Given the description of an element on the screen output the (x, y) to click on. 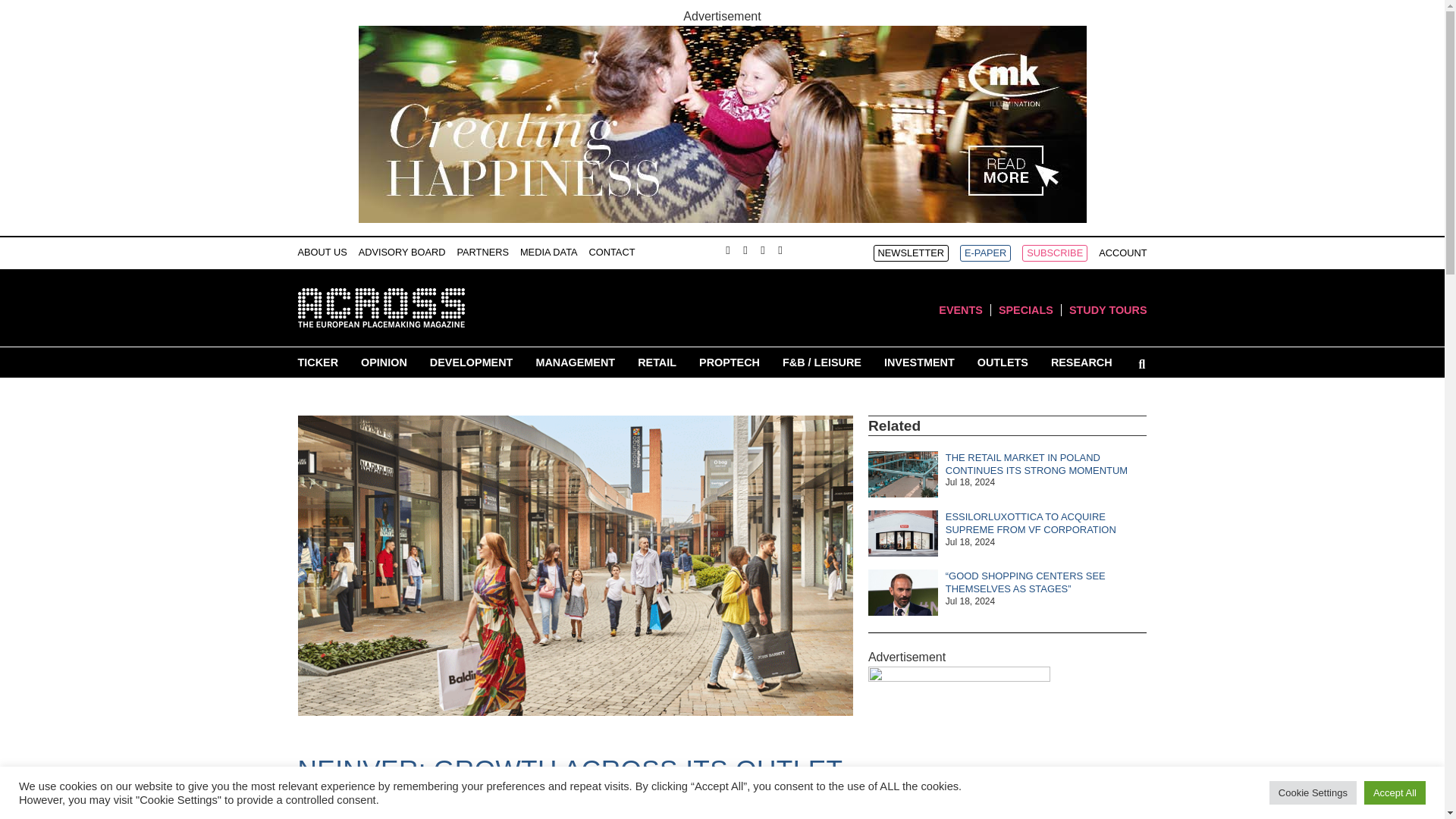
E-PAPER (984, 252)
CONTACT (611, 252)
OPINION (384, 362)
NEWSLETTER (911, 252)
ADVISORY BOARD (401, 252)
ABOUT US (321, 252)
DEVELOPMENT (471, 362)
MEDIA DATA (548, 252)
TICKER (317, 362)
PROPTECH (729, 362)
SUBSCRIBE (1054, 252)
EVENTS (960, 309)
Subscribe to the ACROSS Newsletter (911, 252)
OUTLETS (1001, 362)
SPECIALS (1025, 309)
